Given the description of an element on the screen output the (x, y) to click on. 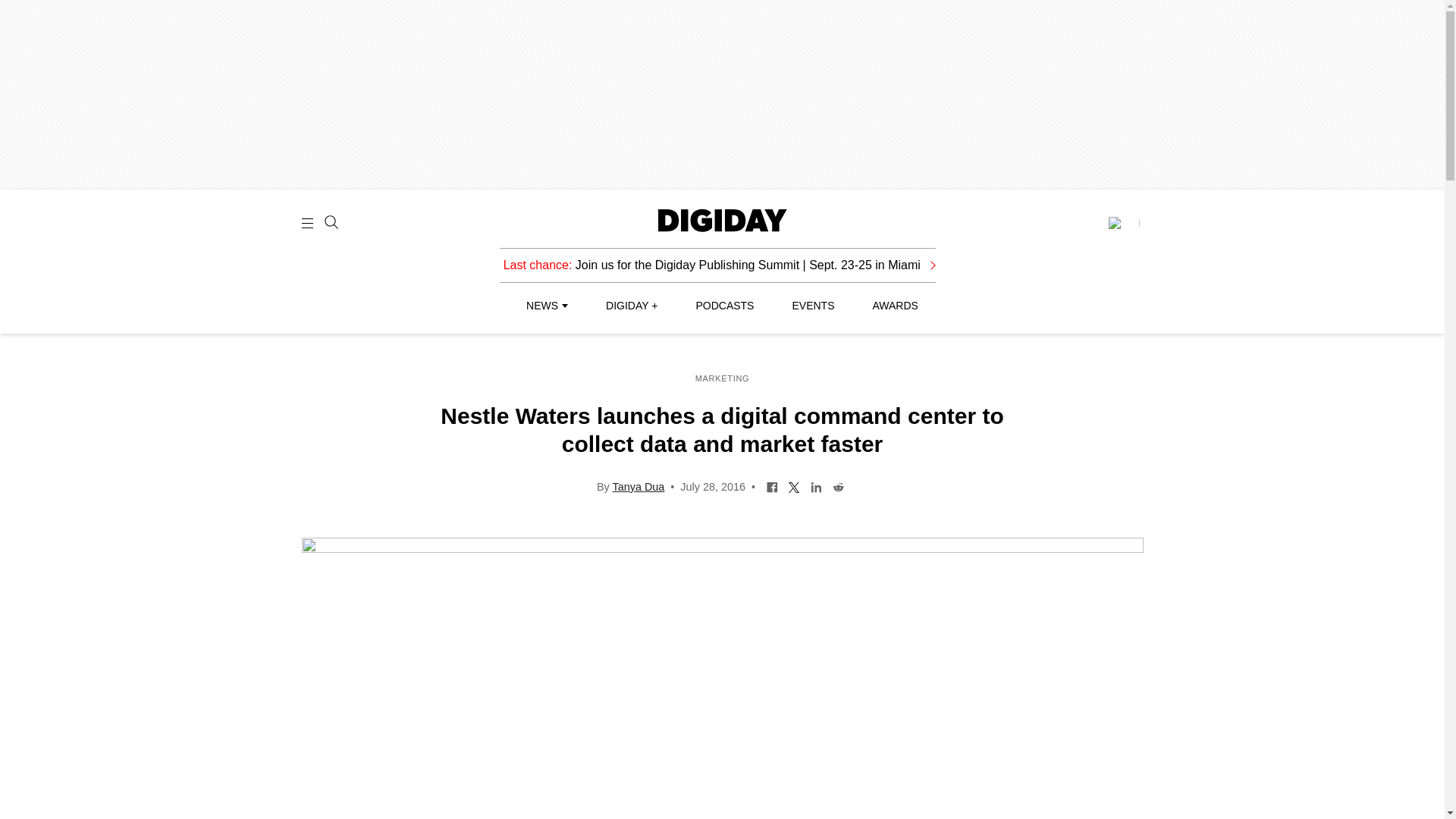
Share on Twitter (793, 485)
Subscribe (1123, 223)
Share on Reddit (837, 485)
EVENTS (813, 305)
AWARDS (894, 305)
Share on Facebook (771, 485)
Share on LinkedIn (815, 485)
NEWS (546, 305)
PODCASTS (725, 305)
